Given the description of an element on the screen output the (x, y) to click on. 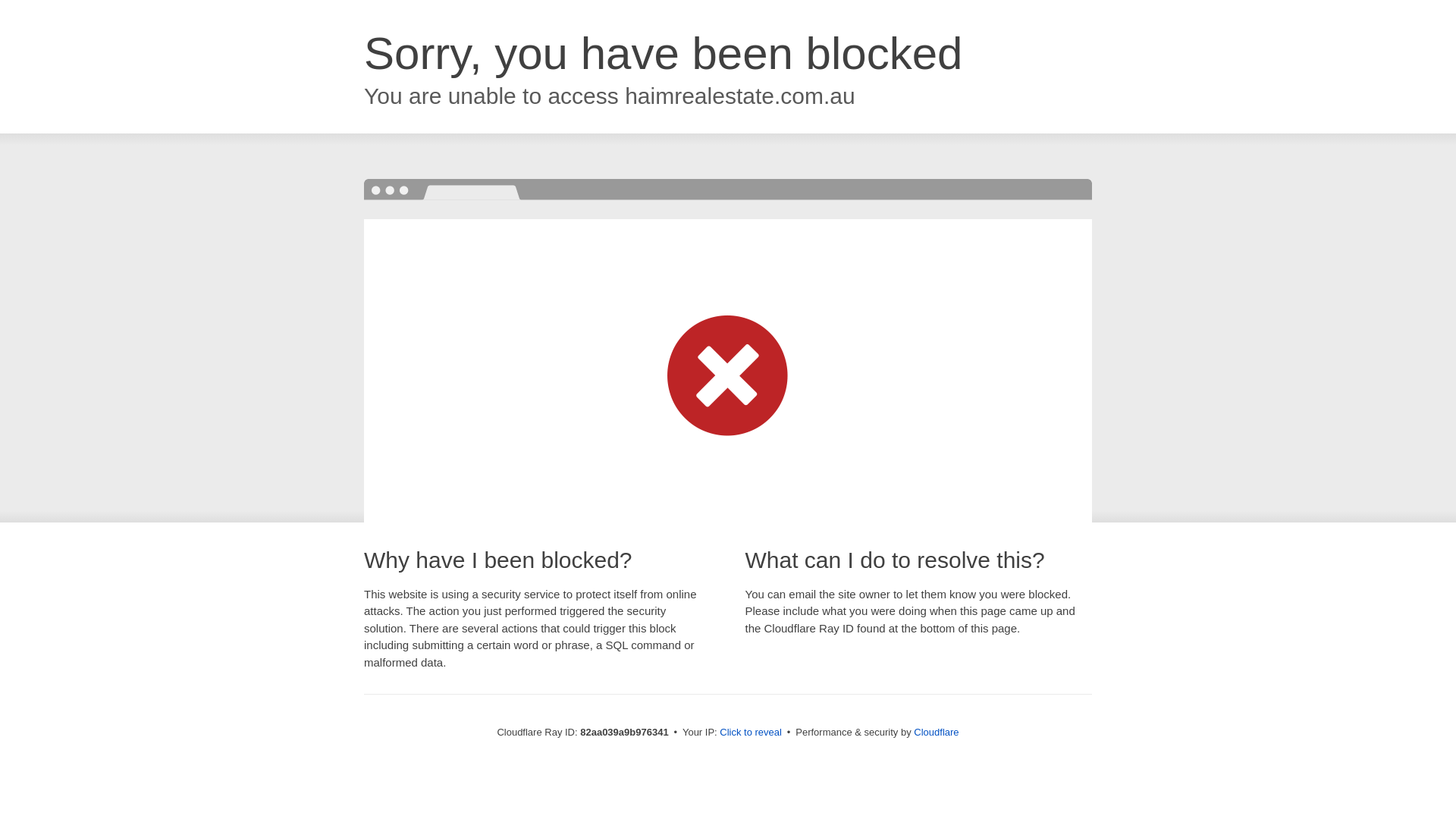
Click to reveal Element type: text (750, 732)
Cloudflare Element type: text (935, 731)
